Given the description of an element on the screen output the (x, y) to click on. 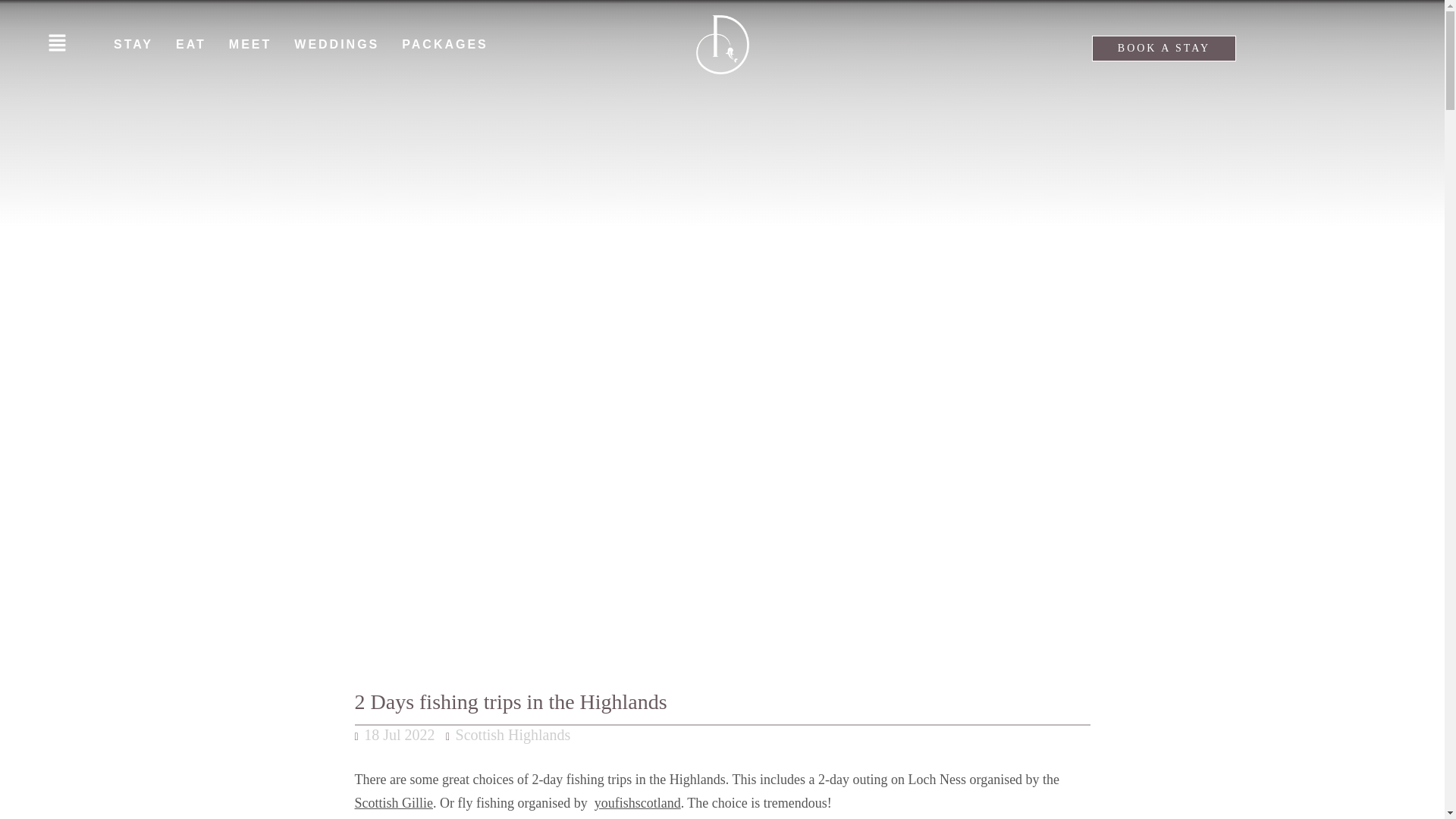
Check availability (1232, 268)
WEDDINGS (336, 44)
STAY (132, 44)
PACKAGES (448, 44)
EAT (190, 44)
MEET (249, 44)
